Given the description of an element on the screen output the (x, y) to click on. 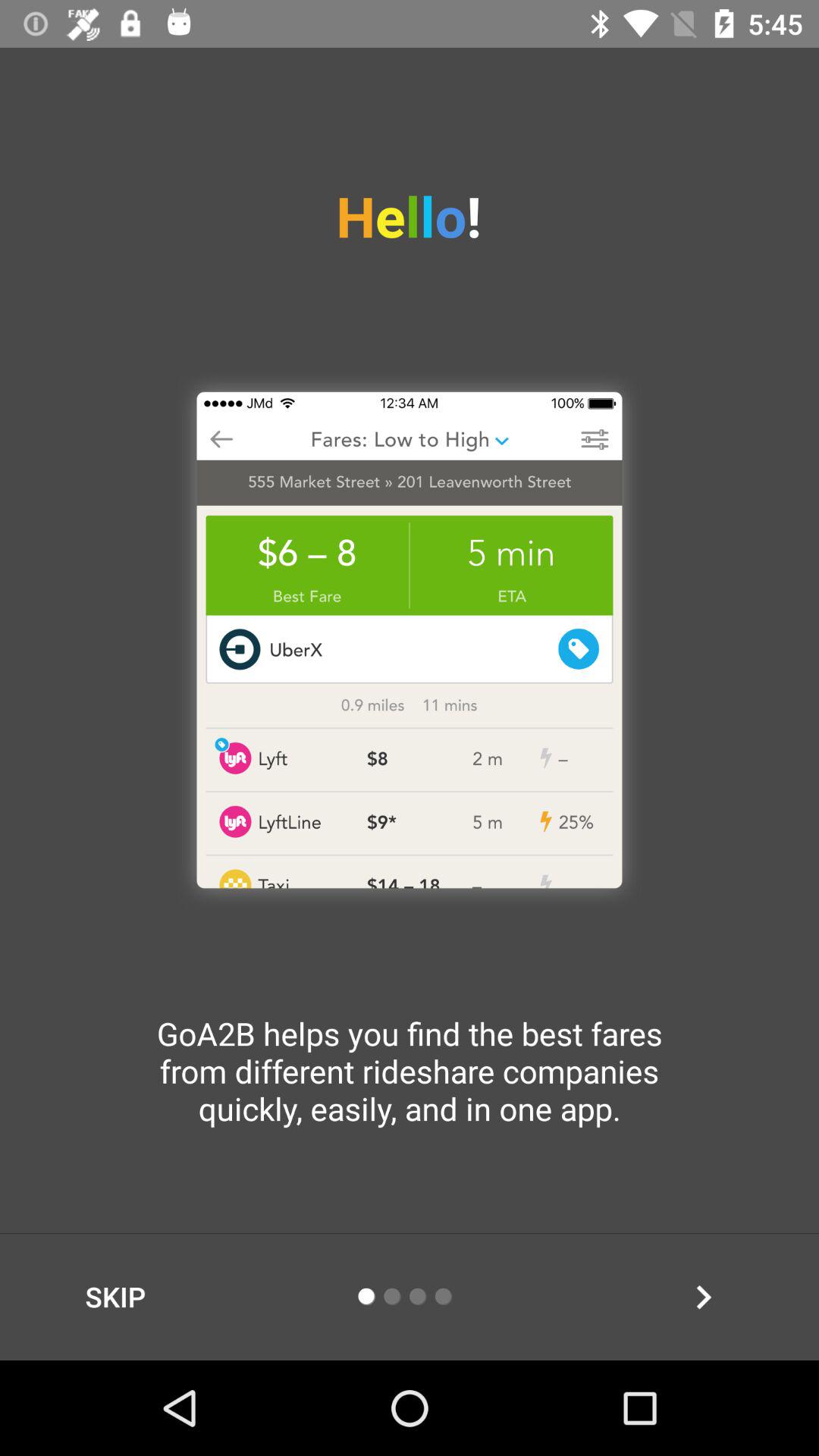
launch the icon below the goa2b helps you item (703, 1296)
